Given the description of an element on the screen output the (x, y) to click on. 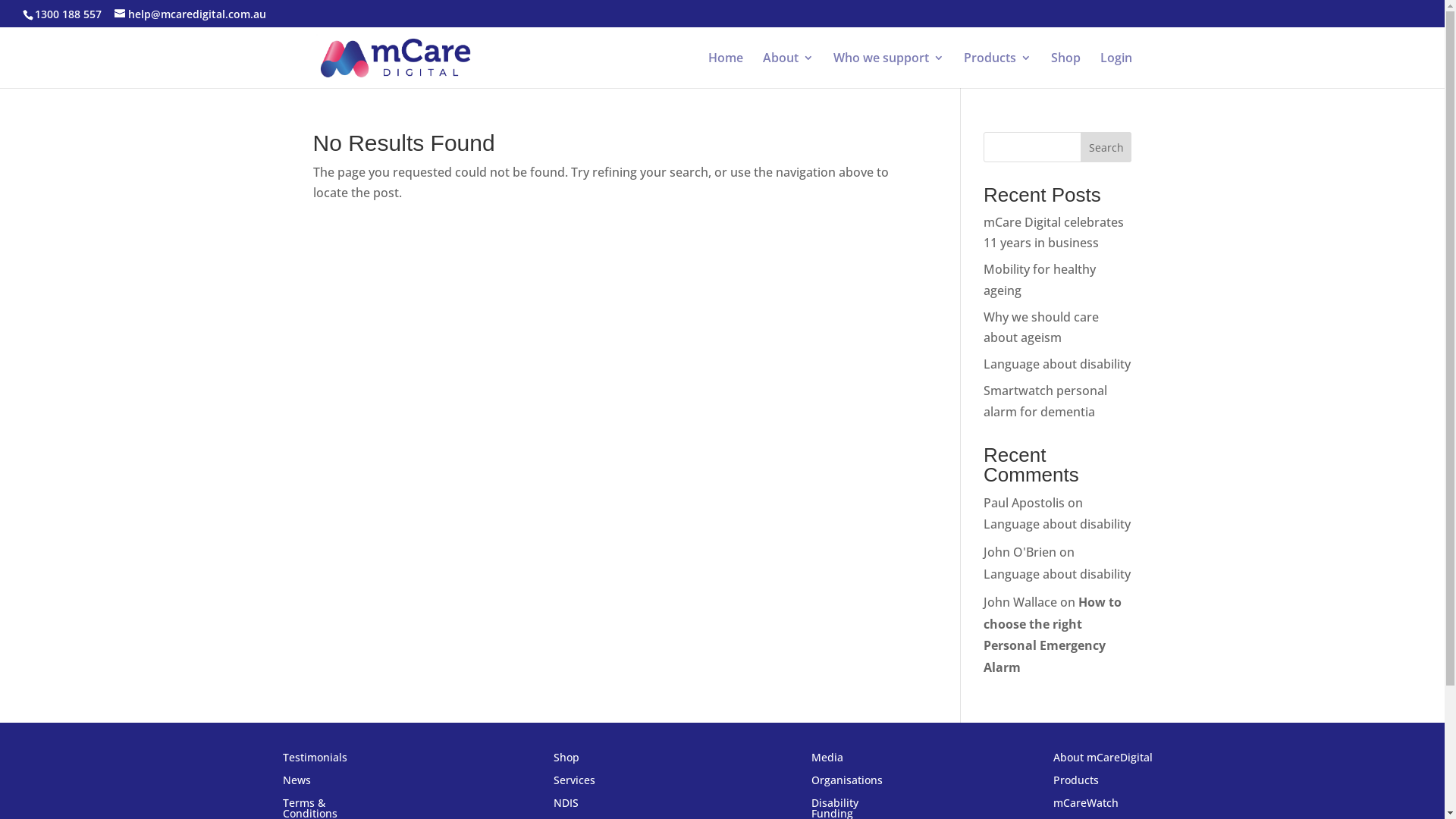
Language about disability Element type: text (1056, 523)
NDIS Element type: text (565, 805)
Home Element type: text (725, 69)
Language about disability Element type: text (1056, 573)
News Element type: text (296, 783)
How to choose the right Personal Emergency Alarm Element type: text (1052, 634)
Paul Apostolis Element type: text (1023, 502)
Search Element type: text (1106, 146)
Why we should care about ageism Element type: text (1040, 326)
About mCareDigital Element type: text (1102, 760)
help@mcaredigital.com.au Element type: text (190, 13)
Media Element type: text (827, 760)
Language about disability Element type: text (1056, 363)
Organisations Element type: text (846, 783)
About Element type: text (787, 69)
Smartwatch personal alarm for dementia Element type: text (1045, 400)
Mobility for healthy ageing Element type: text (1039, 279)
mCare Digital celebrates 11 years in business Element type: text (1053, 232)
Shop Element type: text (1065, 69)
mCareWatch Element type: text (1085, 805)
Who we support Element type: text (887, 69)
Products Element type: text (1075, 783)
Shop Element type: text (566, 760)
Products Element type: text (996, 69)
Login Element type: text (1115, 69)
Services Element type: text (574, 783)
Testimonials Element type: text (314, 760)
